Given the description of an element on the screen output the (x, y) to click on. 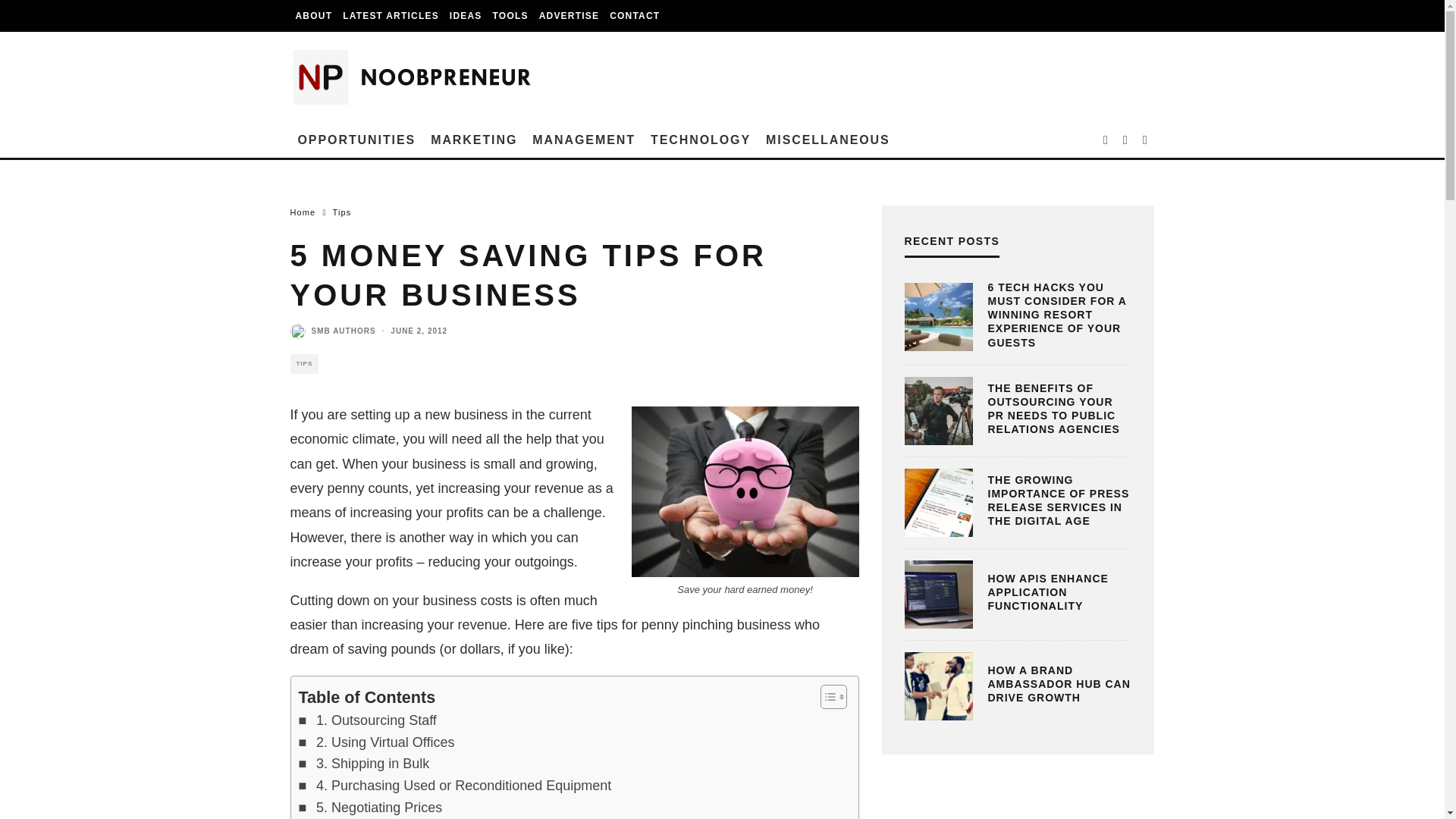
Other Business News and Tips (828, 140)
ABOUT (313, 15)
Small Business Apps (510, 15)
OPPORTUNITIES (356, 140)
Business Management (583, 140)
IDEAS (465, 15)
Small Business Ideas (465, 15)
Business Marketing (473, 140)
LATEST ARTICLES (390, 15)
CONTACT (634, 15)
Information Technology (700, 140)
TOOLS (510, 15)
Business Opportunities (356, 140)
MARKETING (473, 140)
ADVERTISE (569, 15)
